Given the description of an element on the screen output the (x, y) to click on. 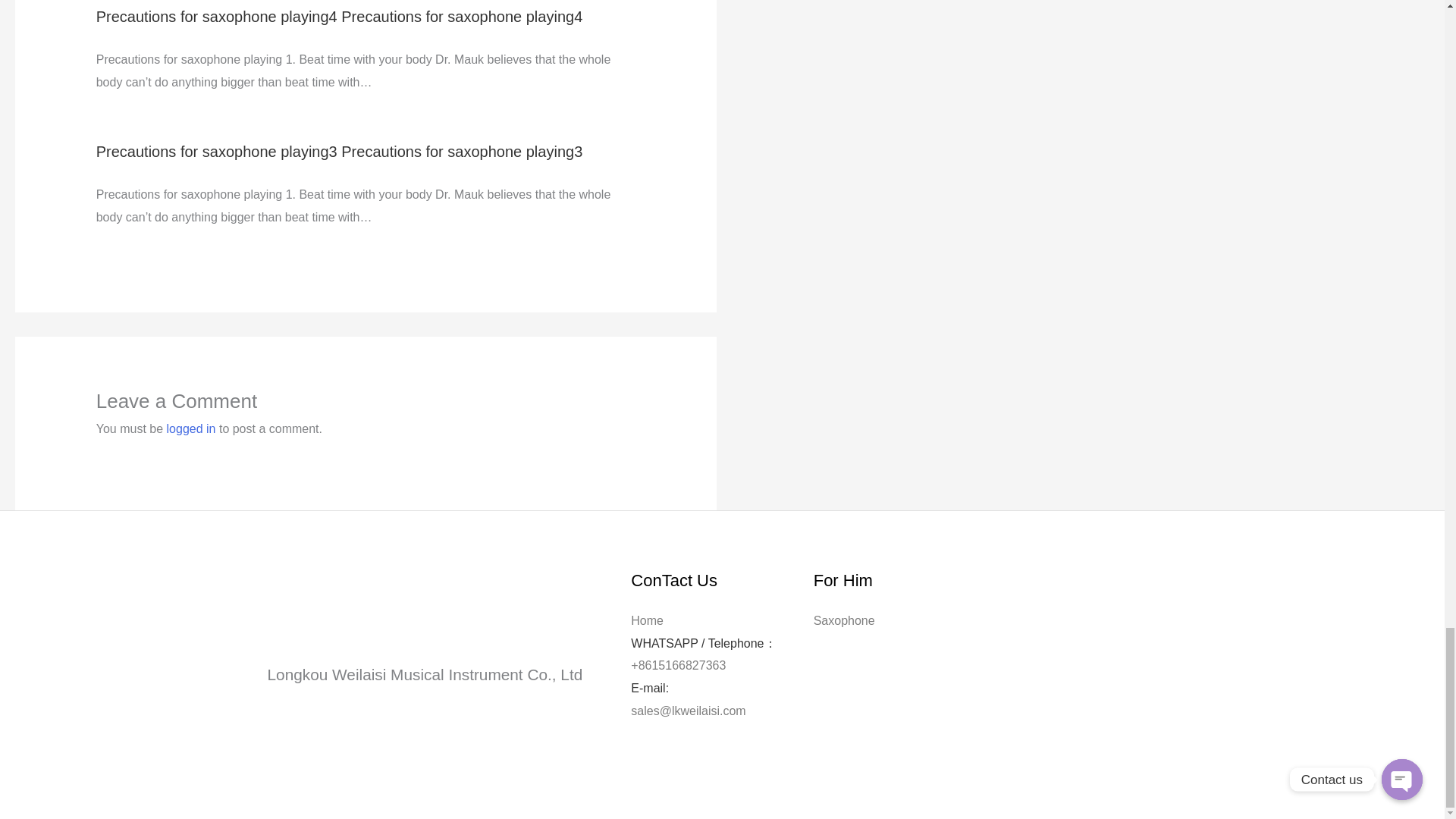
logged in (191, 428)
